Given the description of an element on the screen output the (x, y) to click on. 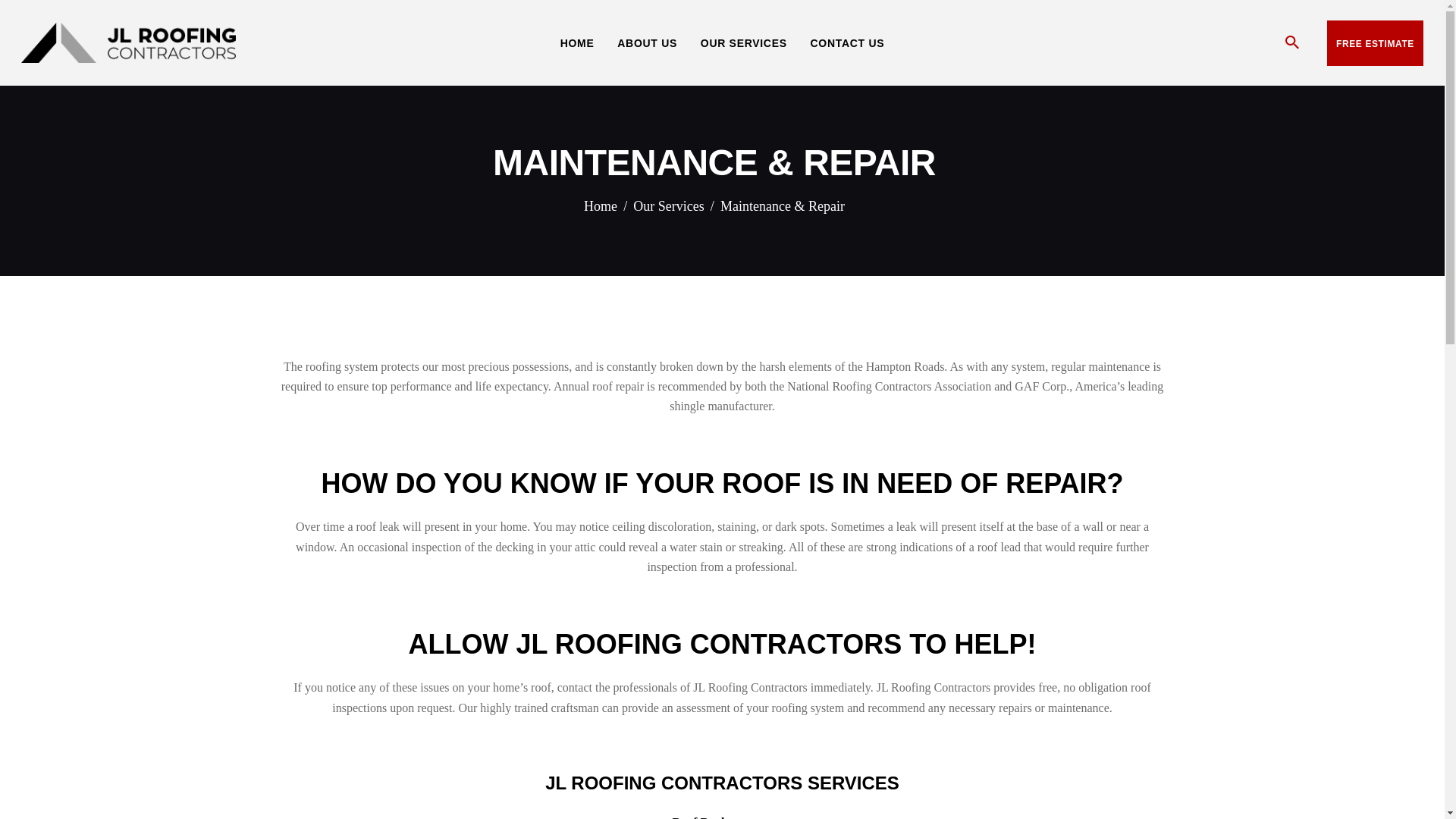
CONTACT US (846, 42)
HOME (576, 42)
FREE ESTIMATE (1374, 43)
OUR SERVICES (742, 42)
Our Services (668, 206)
ABOUT US (646, 42)
Home (600, 206)
